Given the description of an element on the screen output the (x, y) to click on. 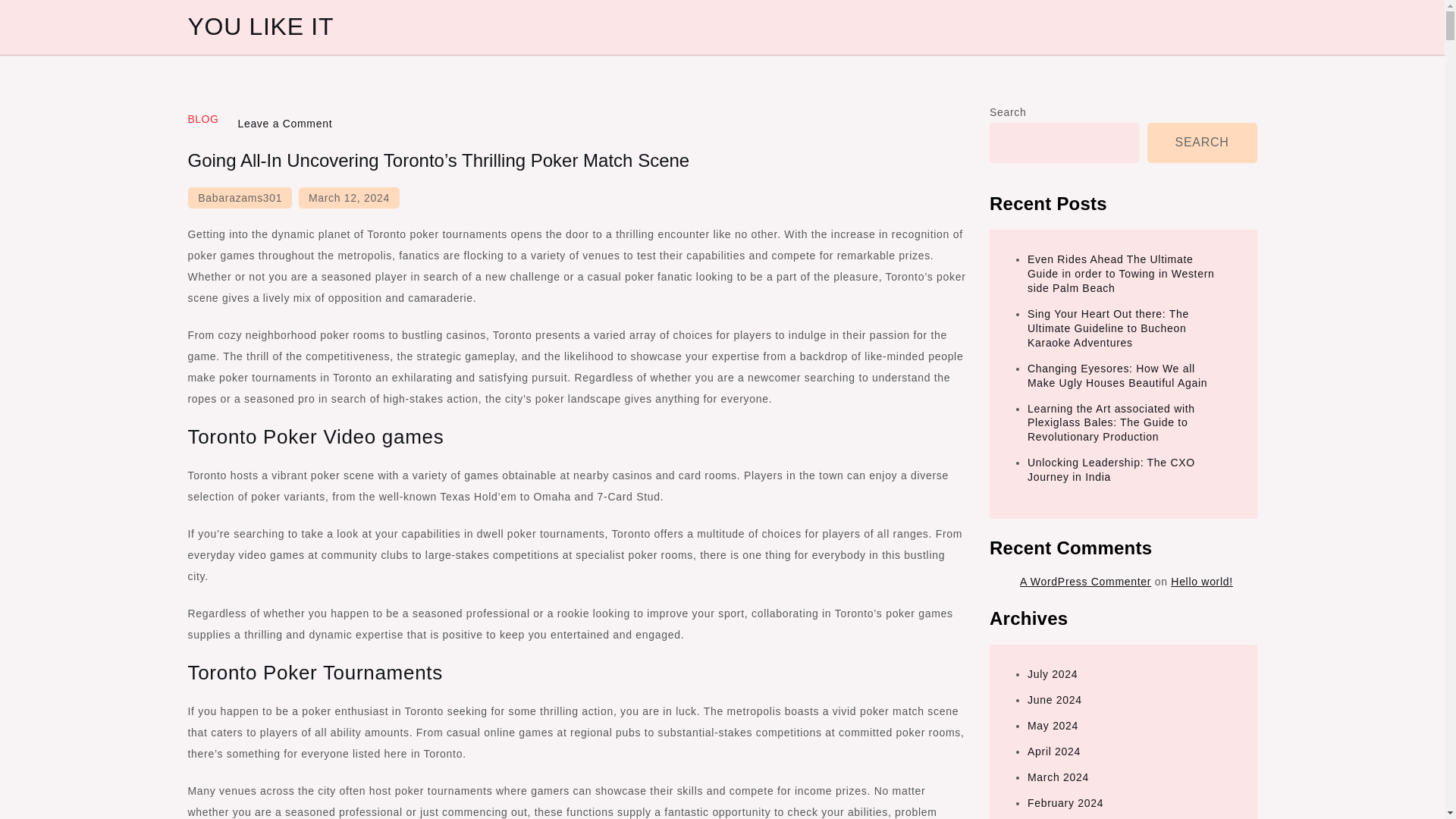
BLOG (203, 119)
July 2024 (1052, 674)
Hello world! (1201, 581)
March 2024 (1058, 776)
April 2024 (1053, 751)
A WordPress Commenter (1085, 581)
SEARCH (1202, 142)
Unlocking Leadership: The CXO Journey in India (1111, 469)
February 2024 (1065, 802)
March 12, 2024 (348, 197)
Babarazams301 (239, 197)
June 2024 (1054, 699)
